Given the description of an element on the screen output the (x, y) to click on. 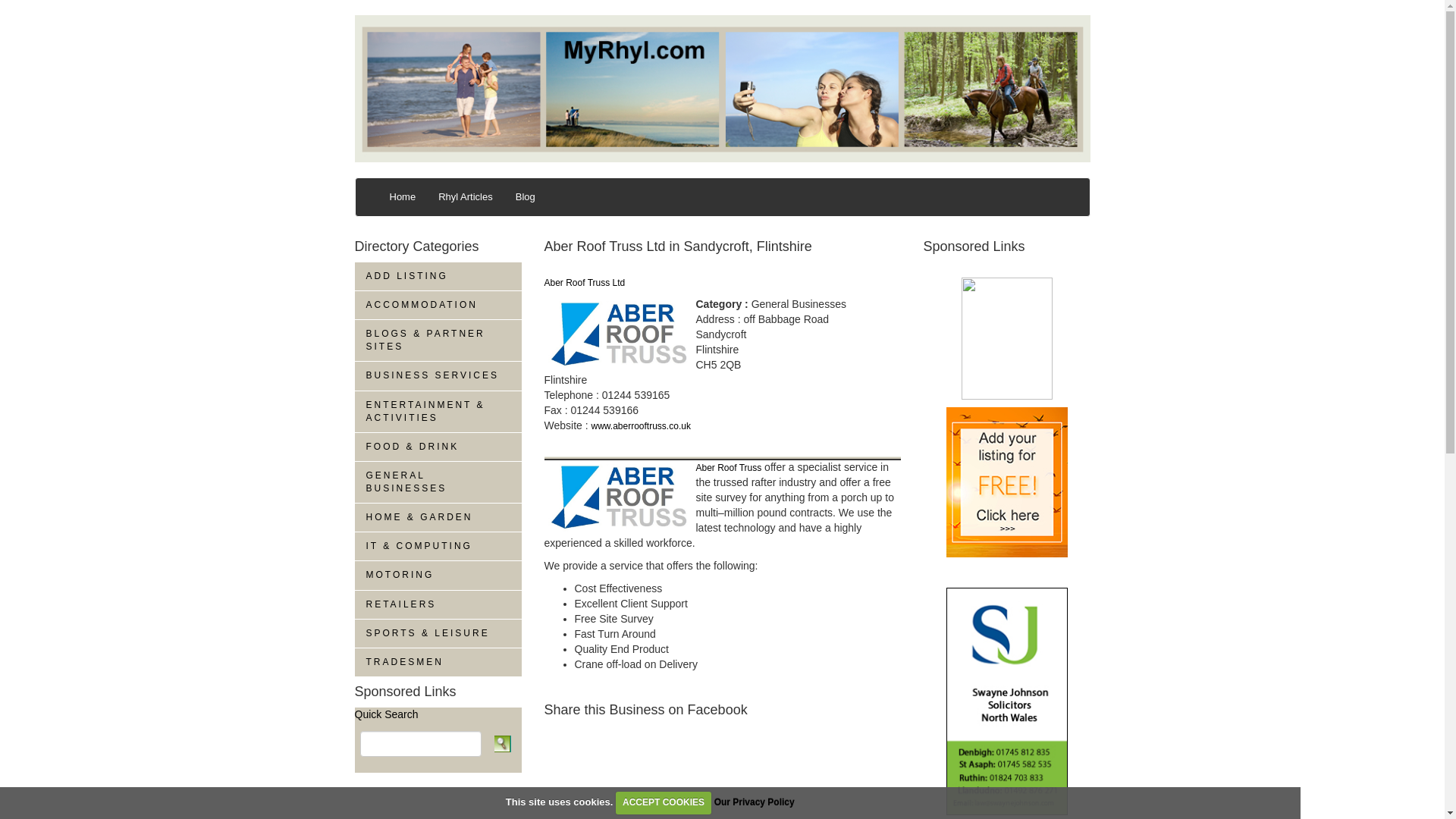
Aber Roof Truss Ltd (585, 282)
Home (401, 197)
ACCOMMODATION (438, 305)
good business directory (976, 182)
RETAILERS (438, 604)
Swayne Johnson Solicitors North Wales (1006, 700)
ACCEPT COOKIES (663, 802)
GENERAL BUSINESSES (438, 482)
www.aberrooftruss.co.uk (640, 425)
TRADESMEN (438, 662)
ADD LISTING (438, 276)
Our Privacy Policy (754, 801)
Blog (525, 197)
MOTORING (438, 575)
BUSINESS SERVICES (438, 375)
